Given the description of an element on the screen output the (x, y) to click on. 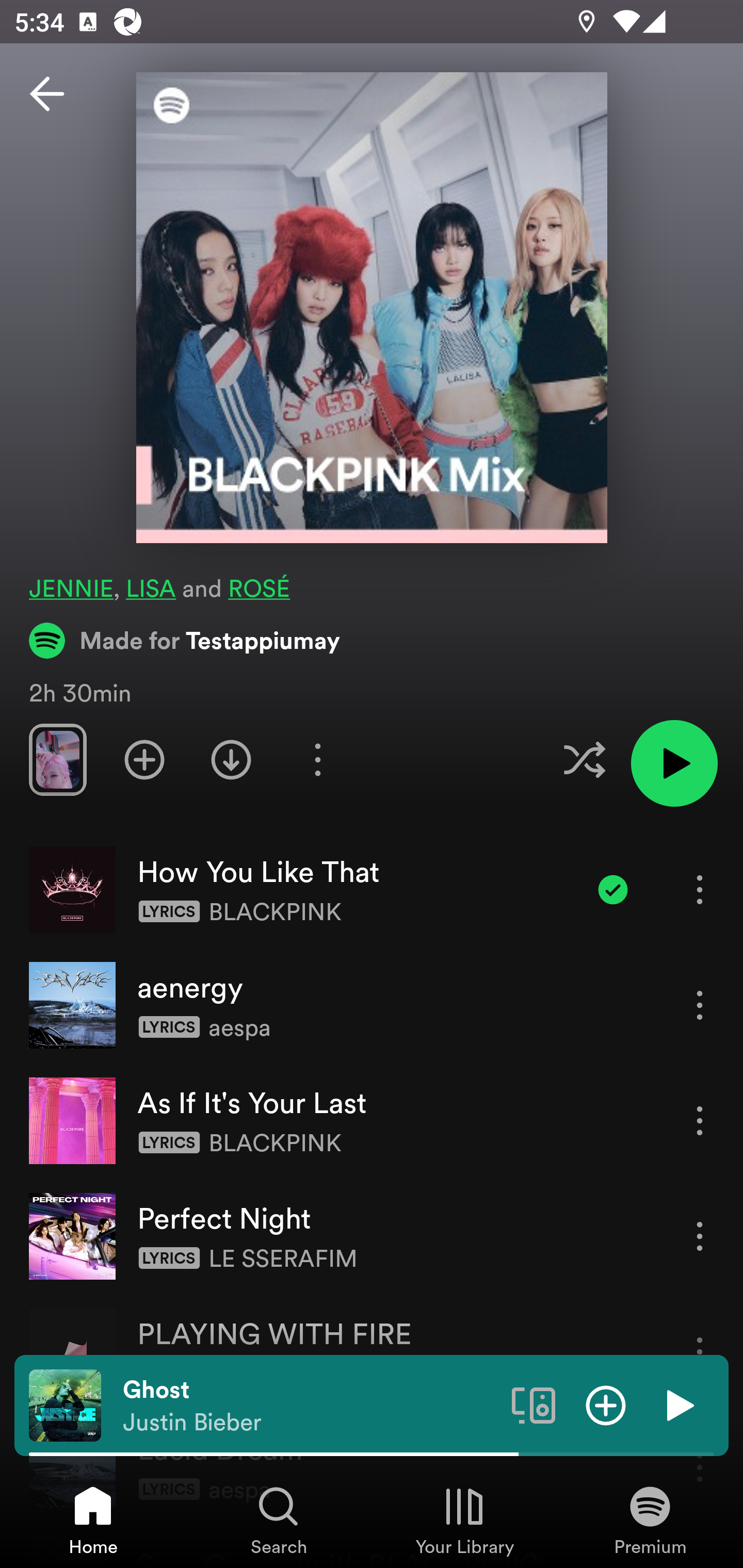
Back (46, 93)
Made for Testappiumay (184, 640)
Add playlist to Your Library (144, 759)
Download (230, 759)
More options for playlist BLACKPINK Mix (317, 759)
Enable shuffle for this playlist (583, 759)
Play playlist (674, 763)
Item added (612, 889)
More options for song How You Like That (699, 889)
aenergy More options for song aenergy Lyrics aespa (371, 1005)
More options for song aenergy (699, 1004)
More options for song As If It's Your Last (699, 1120)
More options for song Perfect Night (699, 1236)
Ghost Justin Bieber (309, 1405)
The cover art of the currently playing track (64, 1404)
Connect to a device. Opens the devices menu (533, 1404)
Add item (605, 1404)
Play (677, 1404)
Home, Tab 1 of 4 Home Home (92, 1519)
Search, Tab 2 of 4 Search Search (278, 1519)
Your Library, Tab 3 of 4 Your Library Your Library (464, 1519)
Premium, Tab 4 of 4 Premium Premium (650, 1519)
